Given the description of an element on the screen output the (x, y) to click on. 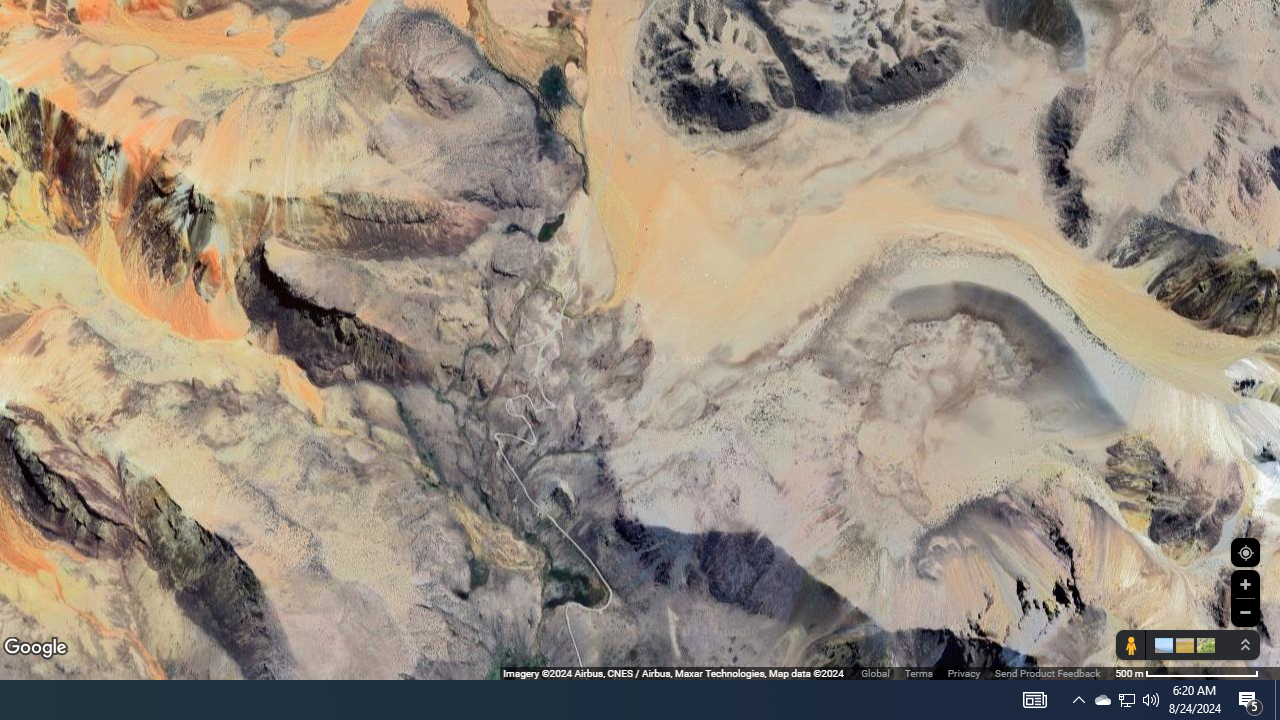
Zoom out (1245, 612)
Terms (918, 672)
Privacy (963, 672)
Show imagery (1202, 645)
Show Street View coverage (1130, 645)
Global (875, 672)
Send Product Feedback (1047, 672)
Show Your Location (1245, 552)
Zoom in (1245, 584)
500 m (1186, 672)
